Given the description of an element on the screen output the (x, y) to click on. 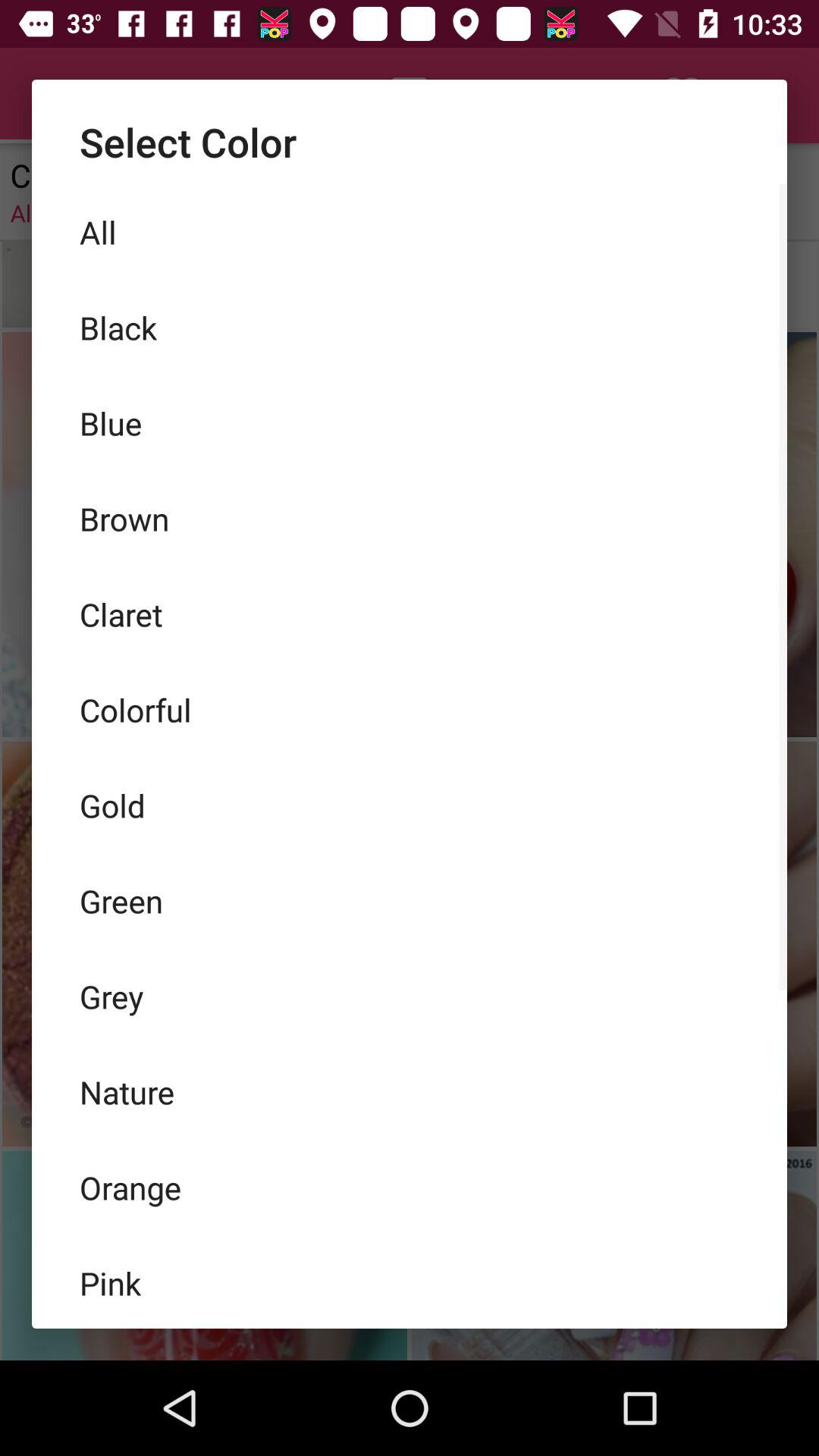
turn on the claret item (409, 614)
